Given the description of an element on the screen output the (x, y) to click on. 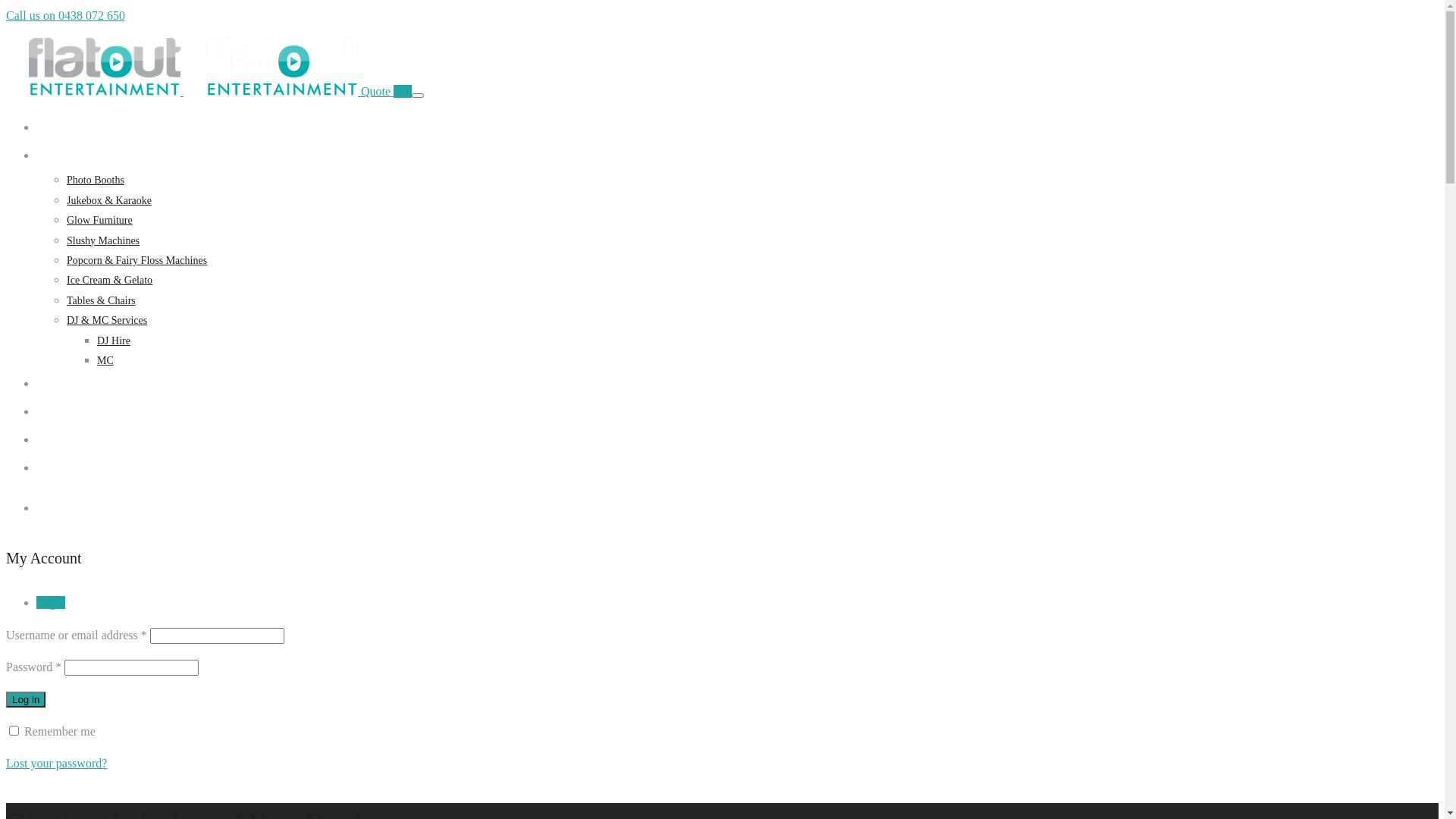
Login Element type: text (50, 602)
Gallery Element type: text (52, 411)
Contact Us Element type: text (60, 467)
Lost your password? Element type: text (56, 762)
Photo Booths Element type: text (95, 179)
0 Element type: text (406, 90)
DJ & MC Services Element type: text (106, 320)
Home Element type: text (49, 127)
Popcorn & Fairy Floss Machines Element type: text (136, 260)
Flatout Entertainment Element type: hover (183, 90)
Glow Furniture Element type: text (99, 219)
Quote 0 Element type: text (53, 508)
Ice Cream & Gelato Element type: text (109, 279)
DJ Hire Element type: text (113, 340)
Testimonials Element type: text (63, 439)
Tables & Chairs Element type: text (100, 300)
Package Deals Element type: text (67, 383)
Quote 0 Element type: text (381, 90)
Slushy Machines Element type: text (102, 240)
Call us on 0438 072 650 Element type: text (65, 15)
Jukebox & Karaoke Element type: text (108, 200)
MC Element type: text (105, 360)
Log in Element type: text (25, 699)
Hire Element type: text (45, 155)
